Given the description of an element on the screen output the (x, y) to click on. 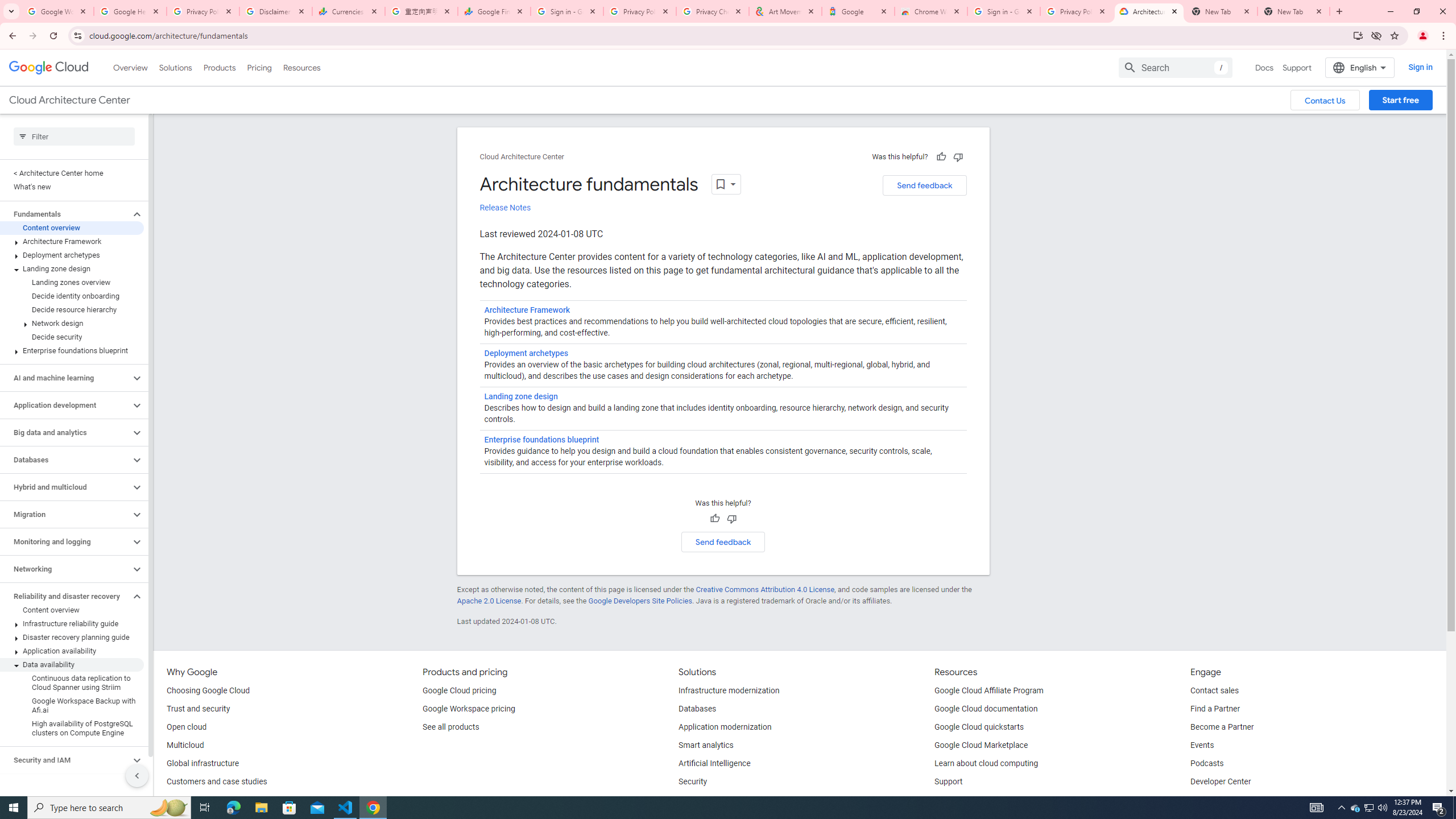
Smart analytics (705, 745)
See all products (450, 727)
Contact sales (1215, 691)
Sign in - Google Accounts (1003, 11)
Decide identity onboarding (72, 296)
Events (1202, 745)
Send feedback (723, 541)
Networking (64, 568)
Google Cloud Marketplace (980, 745)
What's new (72, 187)
